Given the description of an element on the screen output the (x, y) to click on. 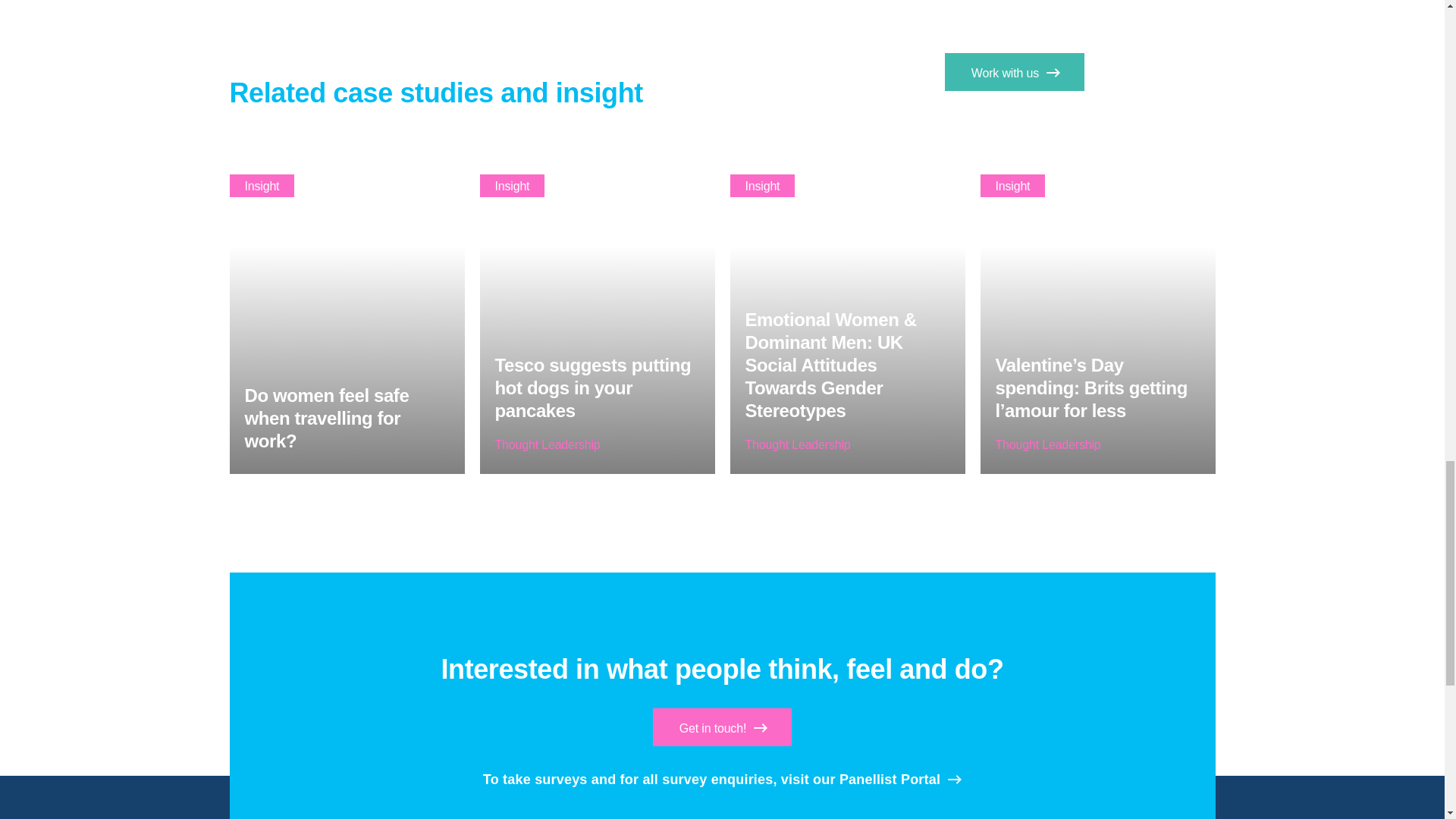
Insight (261, 185)
Thought Leadership (547, 444)
Insight (761, 185)
Thought Leadership (797, 444)
Insight (511, 185)
